Given the description of an element on the screen output the (x, y) to click on. 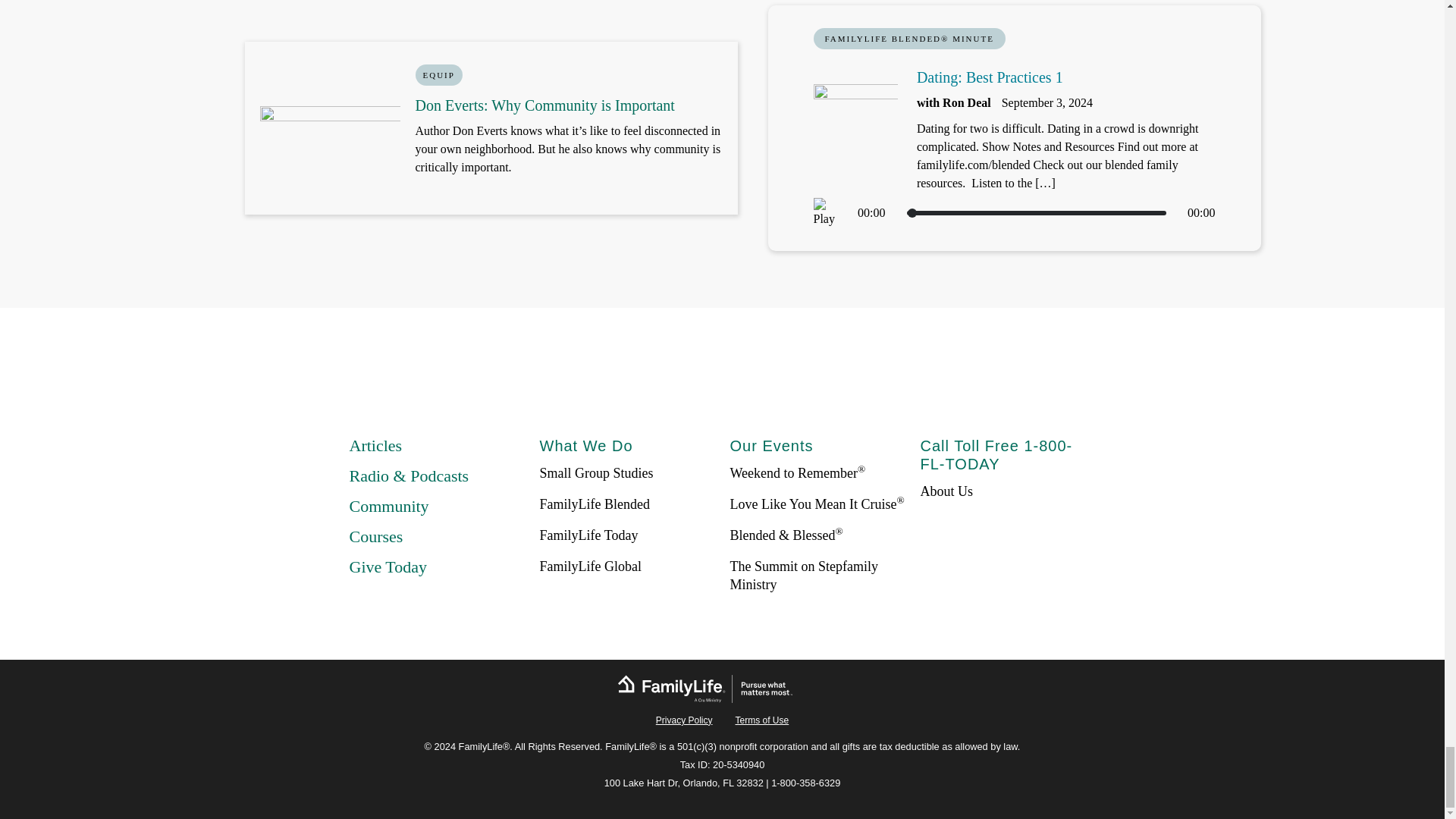
Give Today (387, 566)
FamilyLife Global (591, 566)
The Summit on Stepfamily Ministry (803, 575)
FamilyLife Today (589, 534)
Don Everts: Why Community is Important (544, 105)
Community (388, 505)
EQUIP (438, 74)
Small Group Studies (596, 473)
Articles (375, 445)
0 (1036, 212)
